Given the description of an element on the screen output the (x, y) to click on. 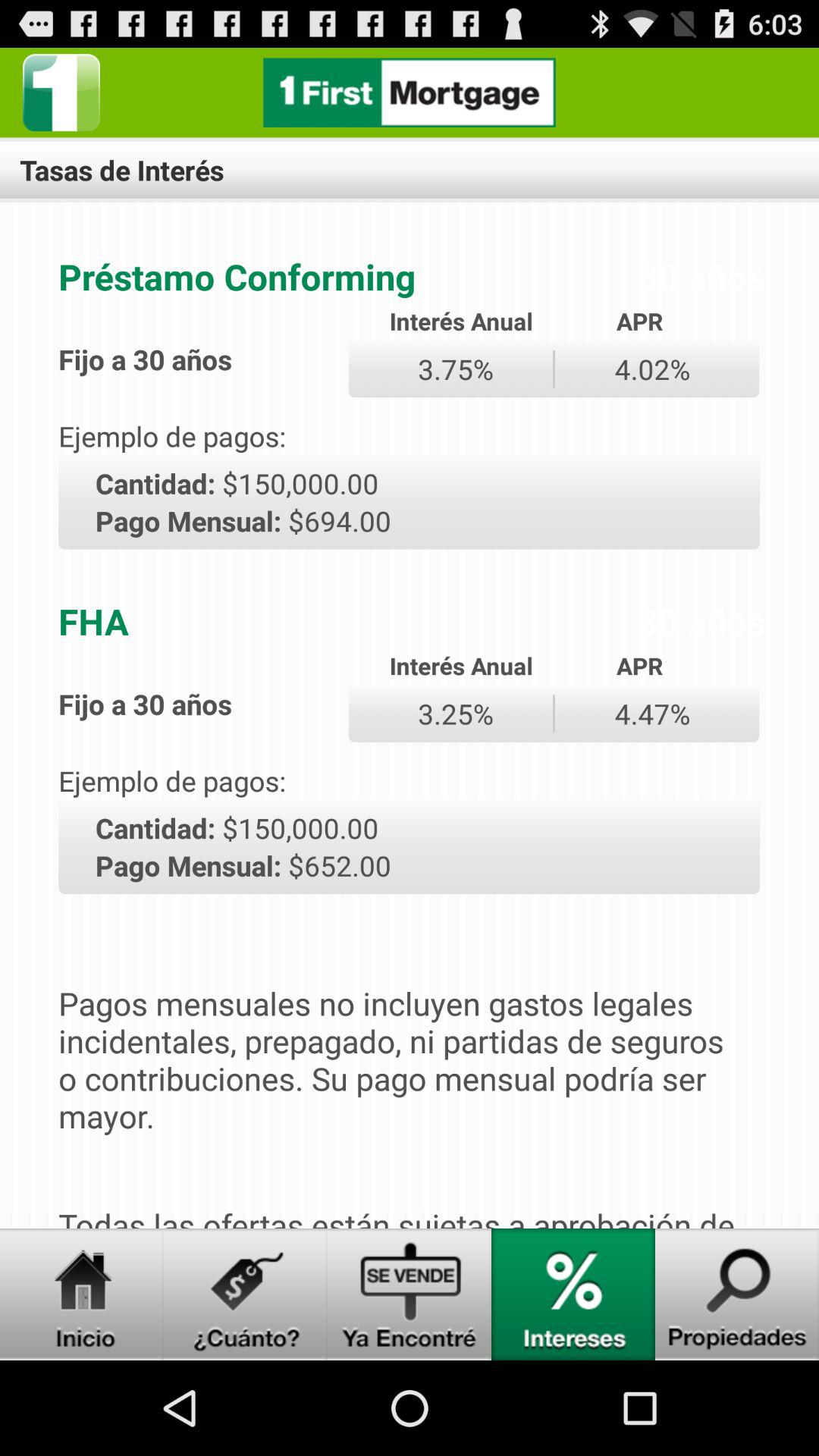
company logo (61, 92)
